Given the description of an element on the screen output the (x, y) to click on. 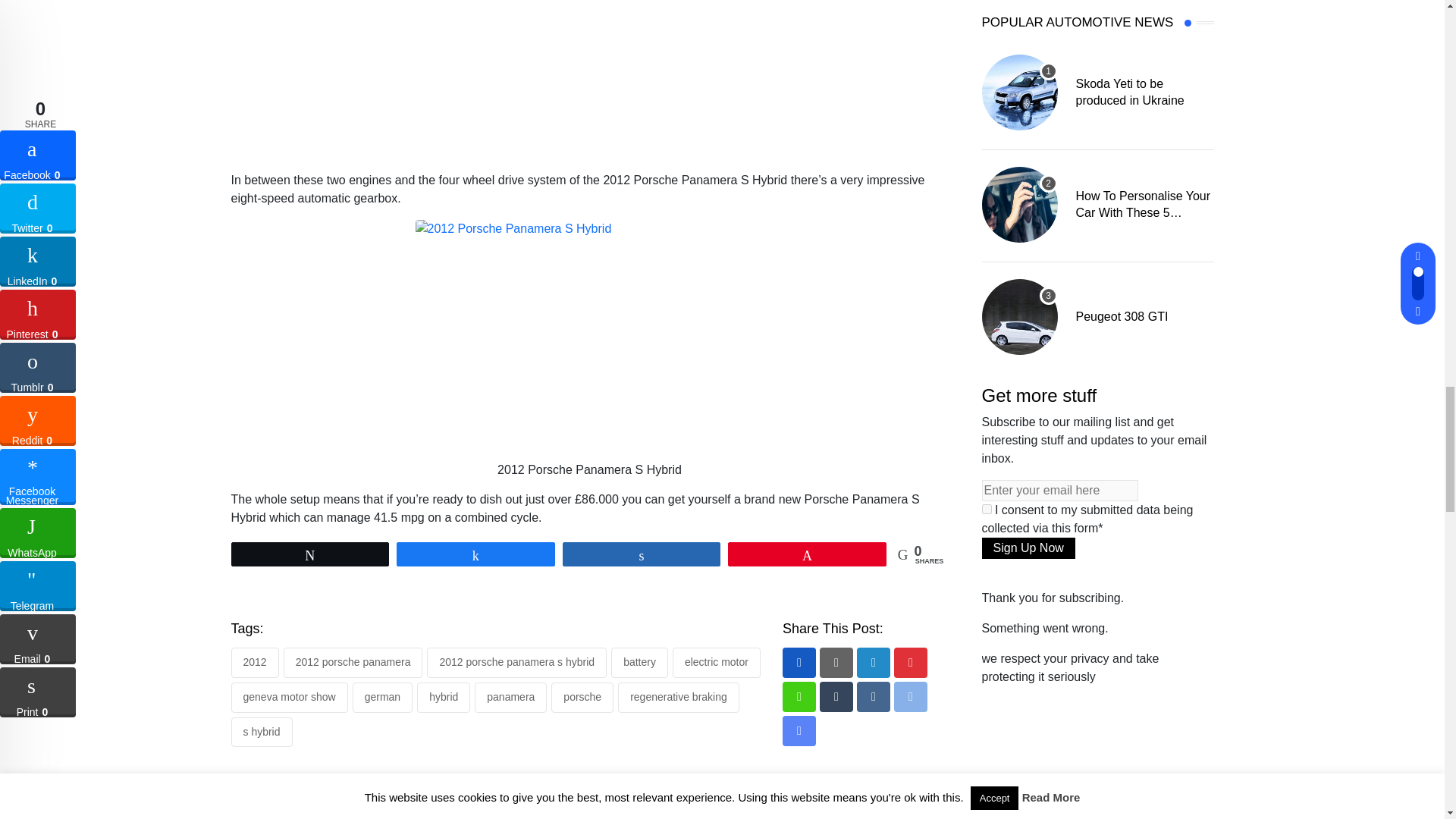
on (986, 509)
Sign Up Now (1027, 547)
Advertisement (596, 85)
